Given the description of an element on the screen output the (x, y) to click on. 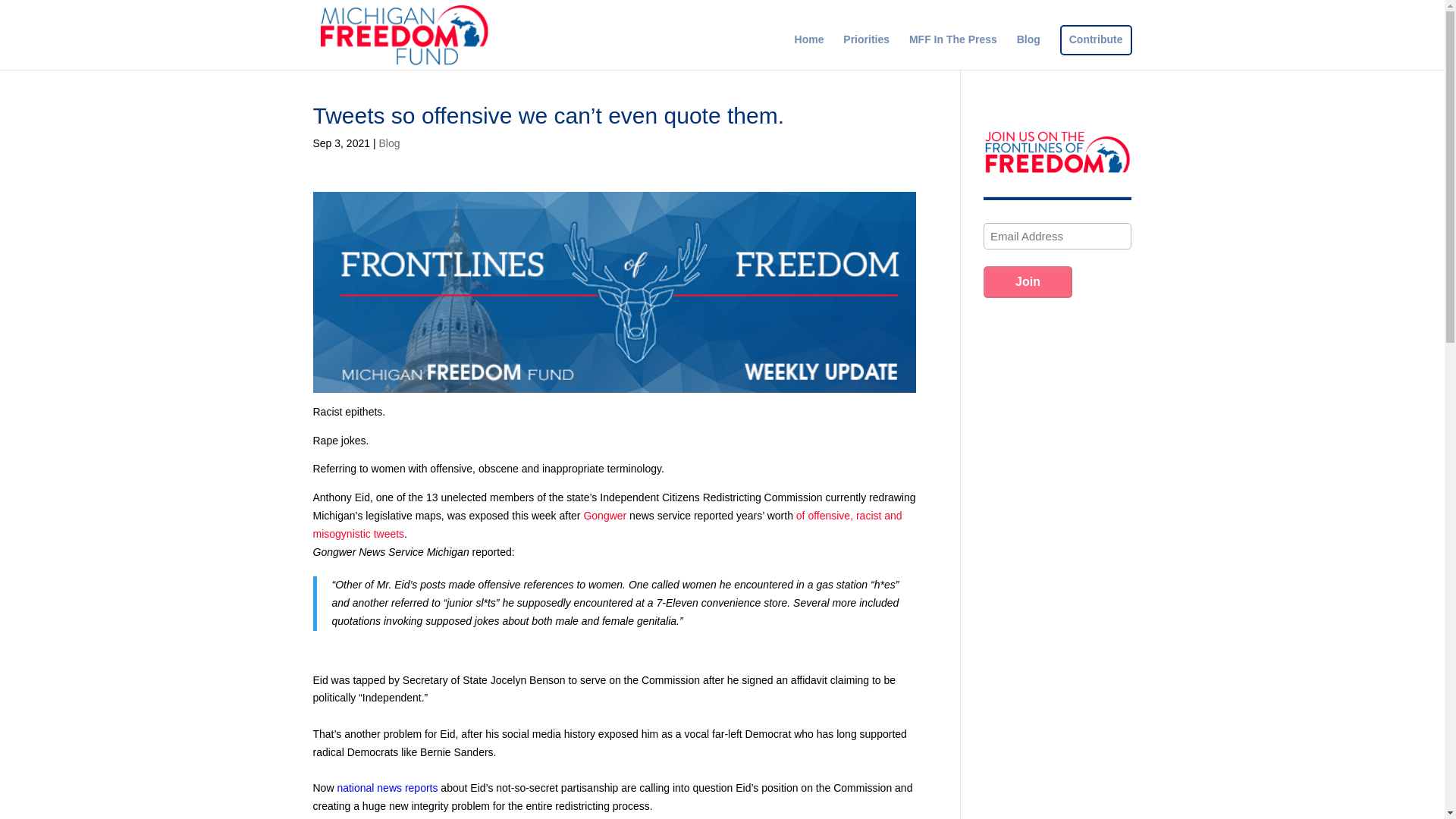
national news reports (387, 787)
Gongwer (604, 515)
Join (1027, 282)
national news reports (387, 787)
Priorities (866, 51)
Contribute (1095, 51)
MFF In The Press (952, 51)
Join (1027, 282)
Blog (388, 143)
of offensive, racist and misogynistic tweets (607, 524)
